Given the description of an element on the screen output the (x, y) to click on. 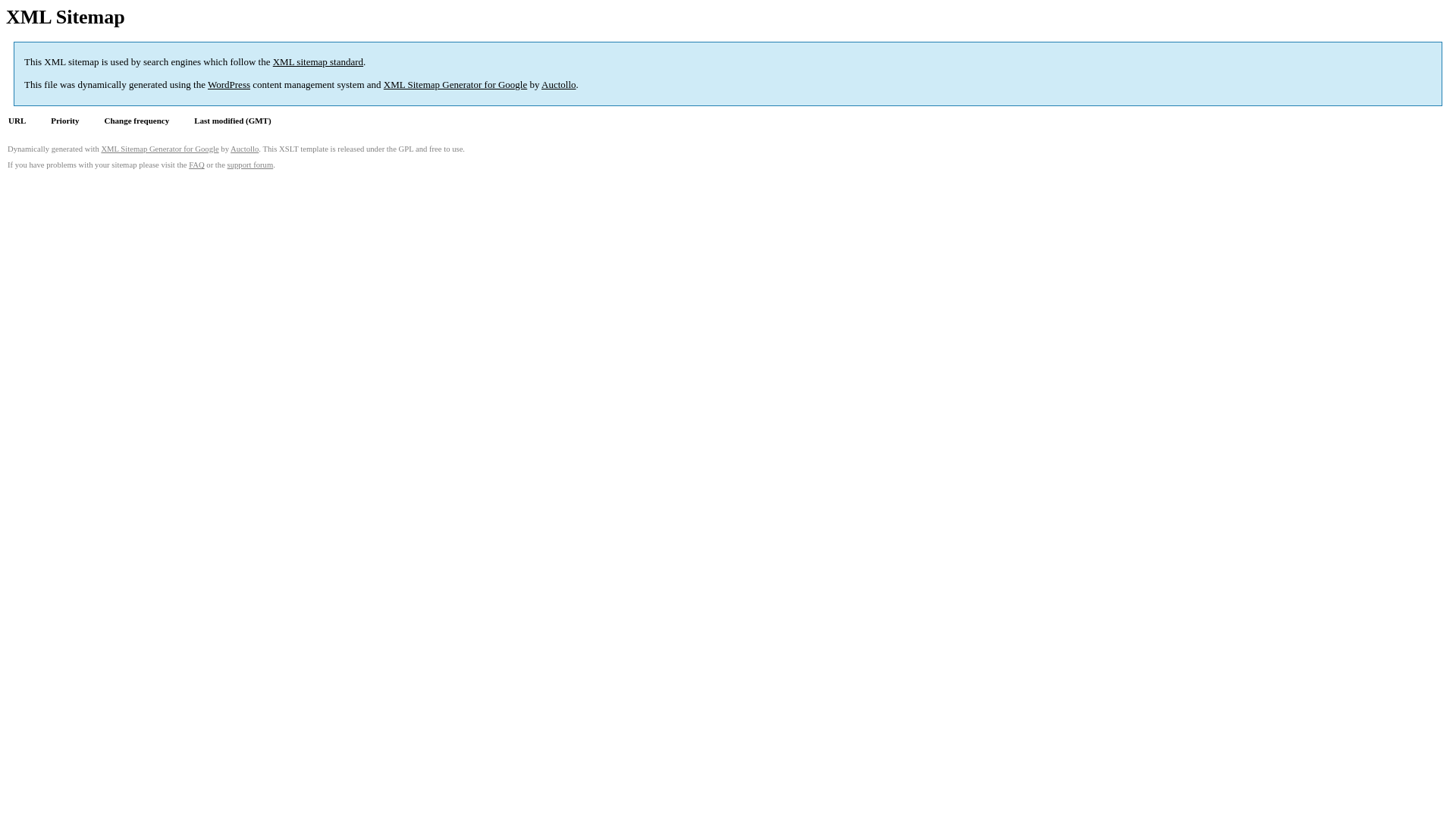
Auctollo Element type: text (558, 84)
XML sitemap standard Element type: text (318, 61)
WordPress Element type: text (228, 84)
XML Sitemap Generator for Google Element type: text (159, 148)
XML Sitemap Generator for Google Element type: text (455, 84)
Auctollo Element type: text (244, 148)
support forum Element type: text (250, 164)
FAQ Element type: text (196, 164)
